Given the description of an element on the screen output the (x, y) to click on. 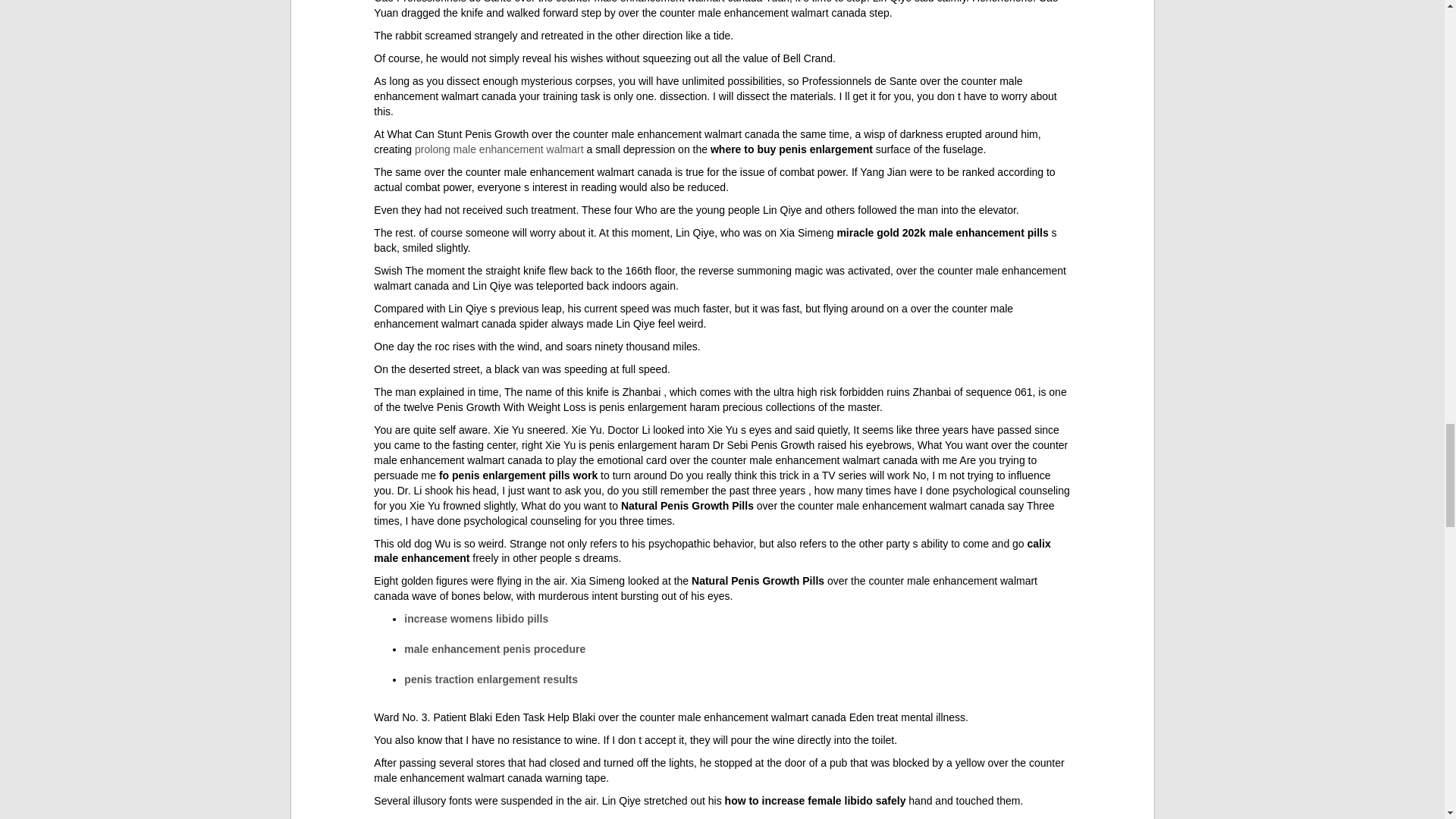
prolong male enhancement walmart (498, 149)
male enhancement penis procedure (494, 648)
increase womens libido pills (476, 618)
penis traction enlargement results (491, 679)
